Given the description of an element on the screen output the (x, y) to click on. 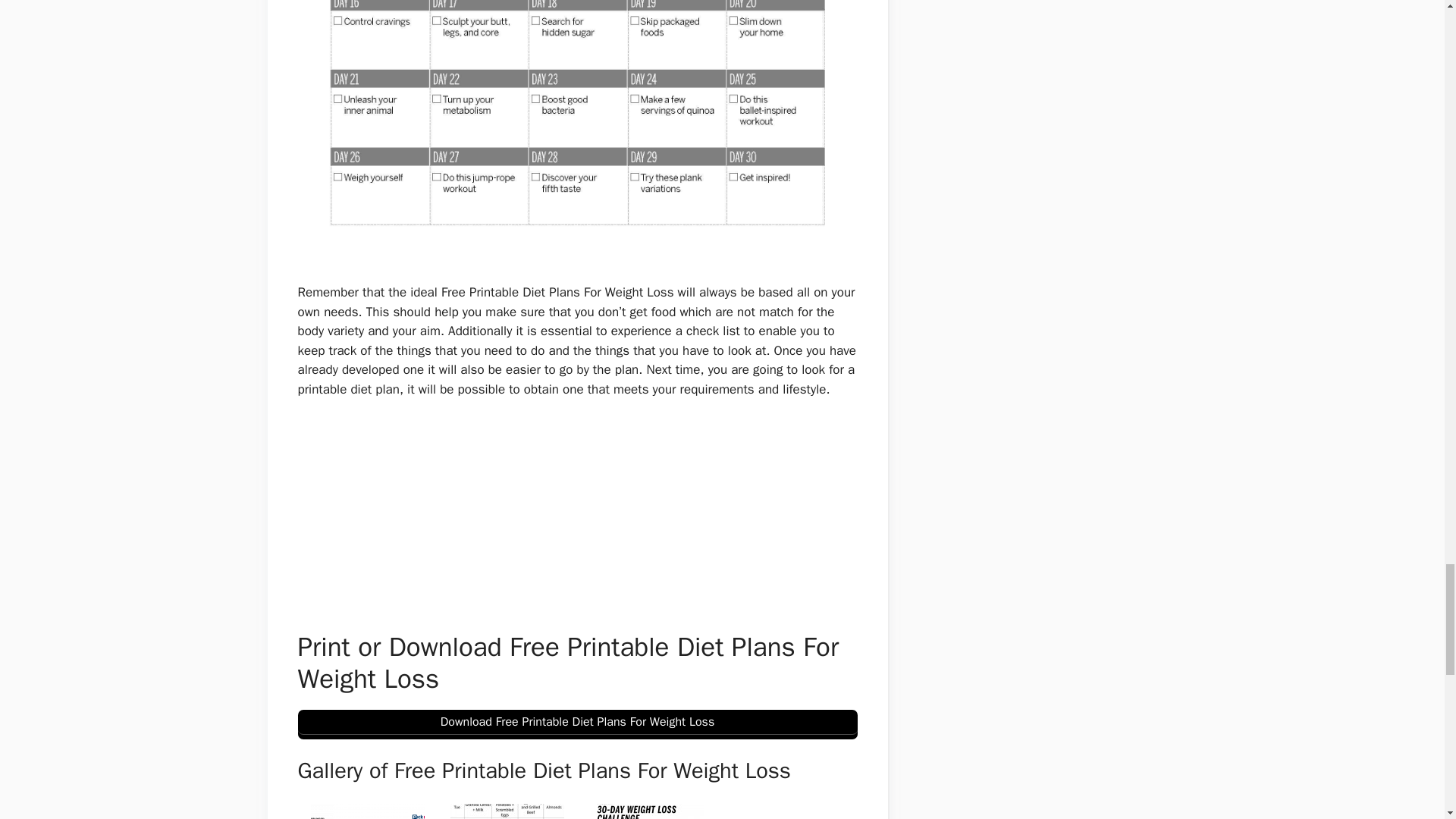
Download Free Printable Diet Plans For Weight Loss (577, 724)
